Given the description of an element on the screen output the (x, y) to click on. 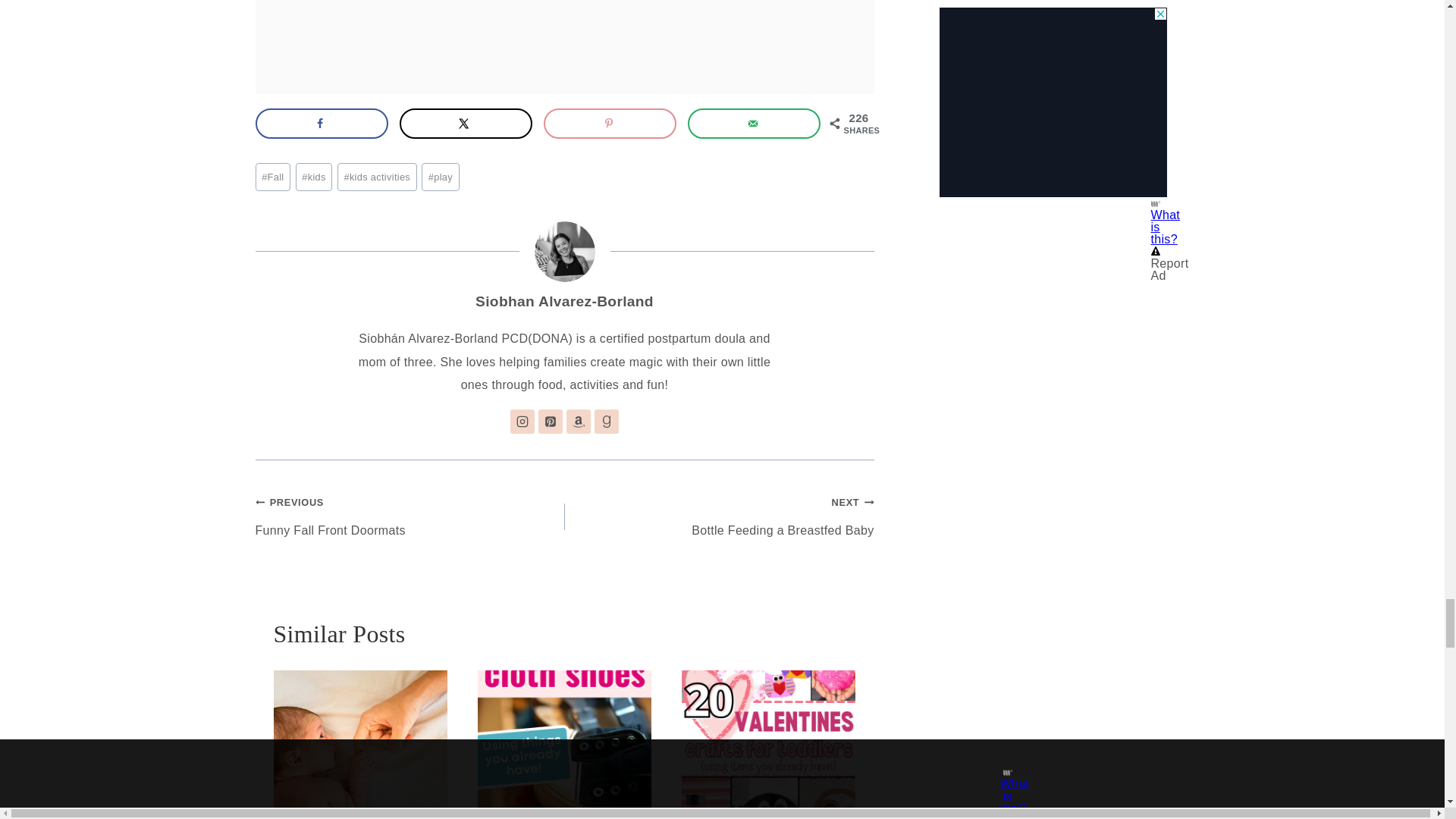
Share on Facebook (320, 123)
Share on X (465, 123)
Send over email (754, 123)
Save to Pinterest (610, 123)
Fall (271, 176)
